Given the description of an element on the screen output the (x, y) to click on. 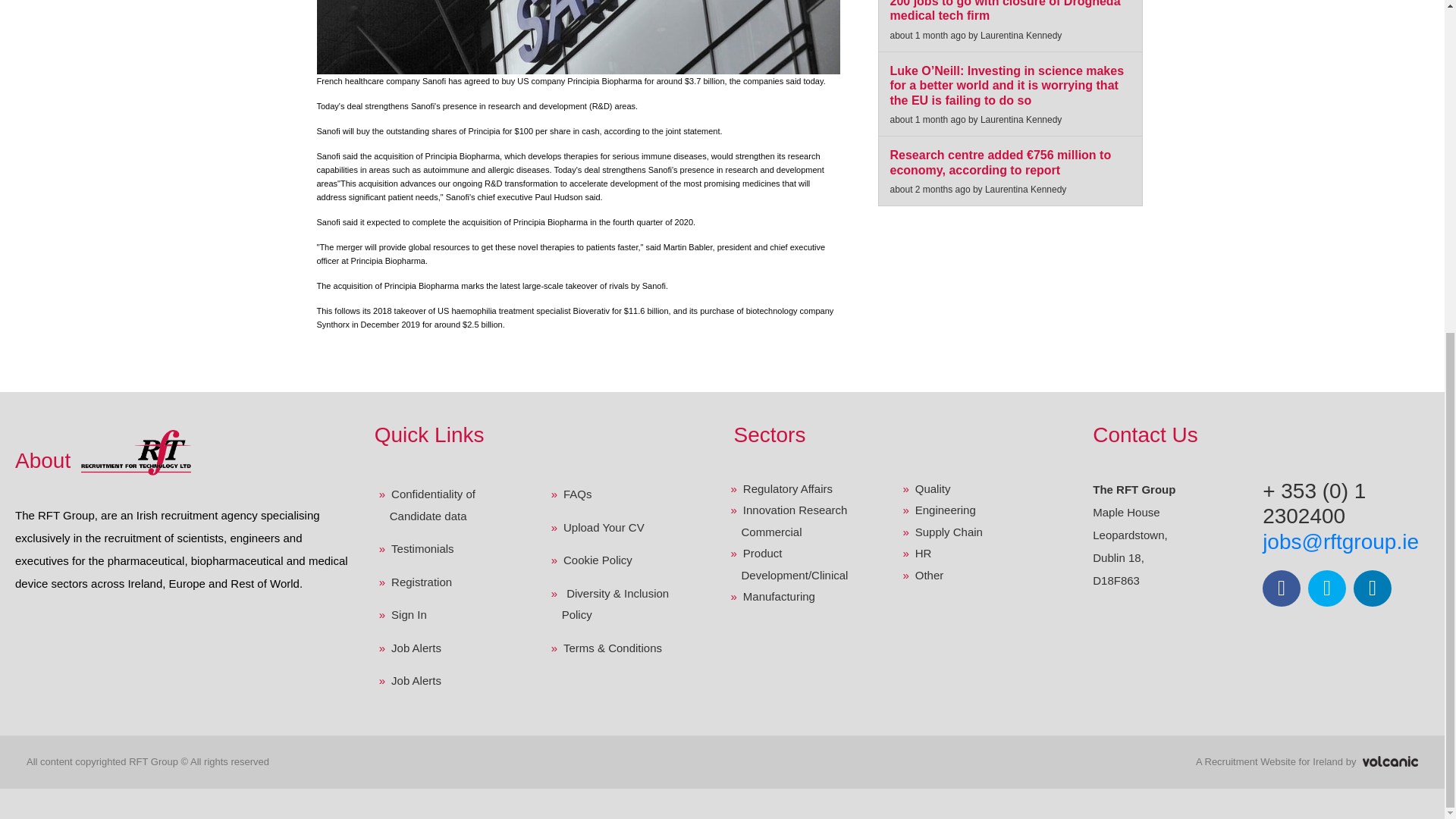
Testimonials (454, 549)
Sign In (454, 614)
Job Alerts (454, 681)
Job Alerts (454, 648)
Upload Your CV (627, 527)
FAQs (627, 494)
Registration (454, 582)
Confidentiality of Candidate data (454, 504)
